Given the description of an element on the screen output the (x, y) to click on. 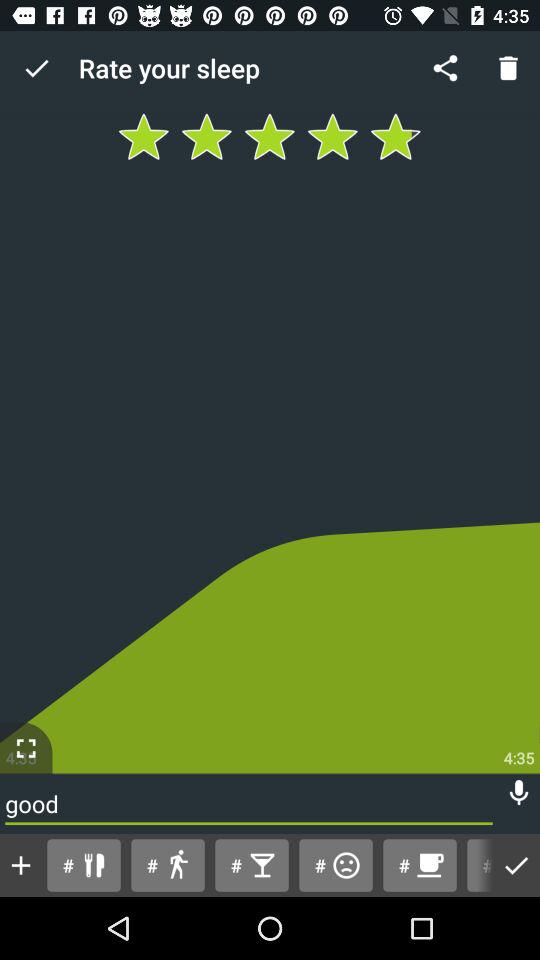
open the item next to the # button (419, 864)
